Given the description of an element on the screen output the (x, y) to click on. 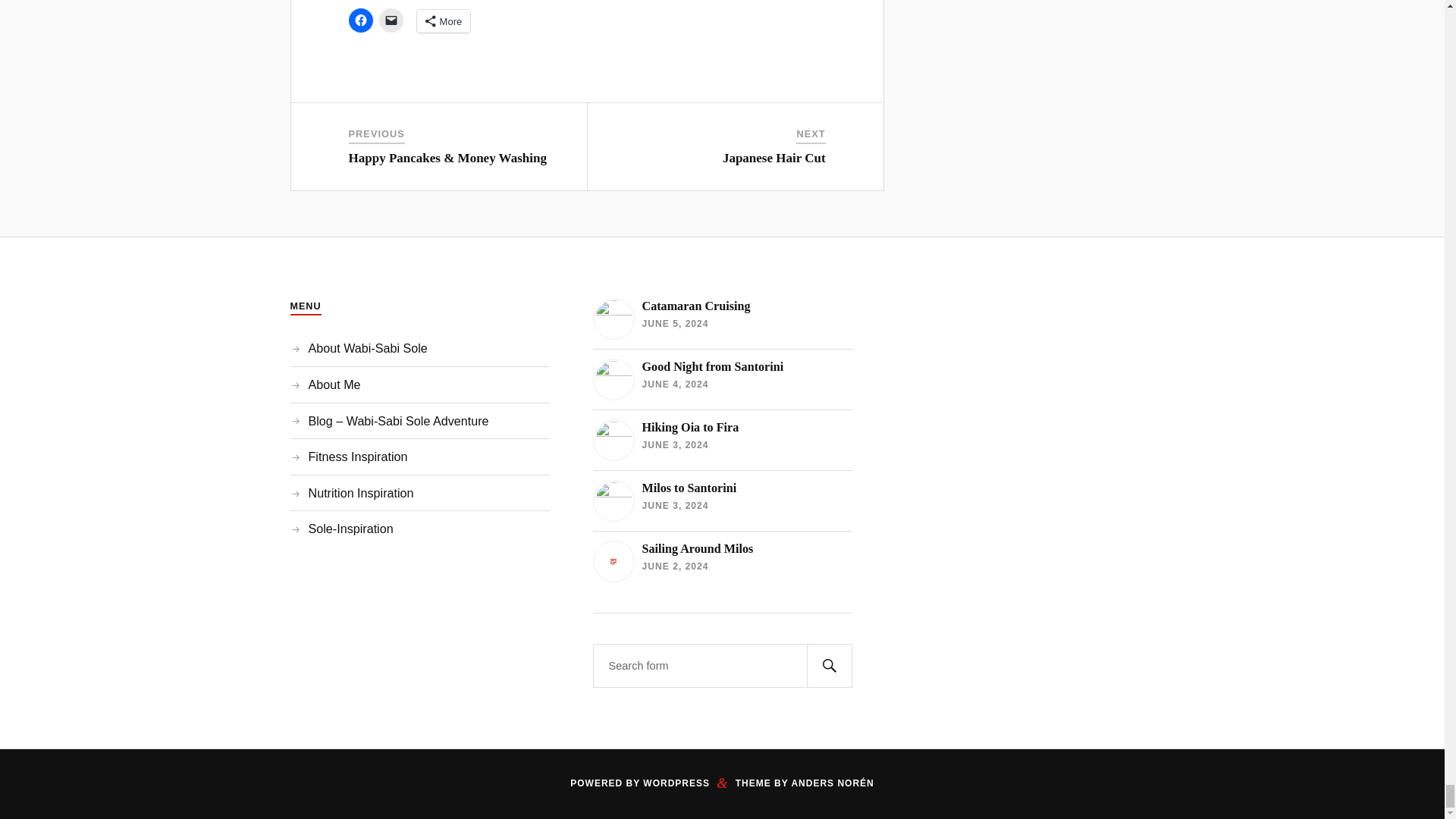
Click to email a link to a friend (390, 20)
Click to share on Facebook (360, 20)
